Given the description of an element on the screen output the (x, y) to click on. 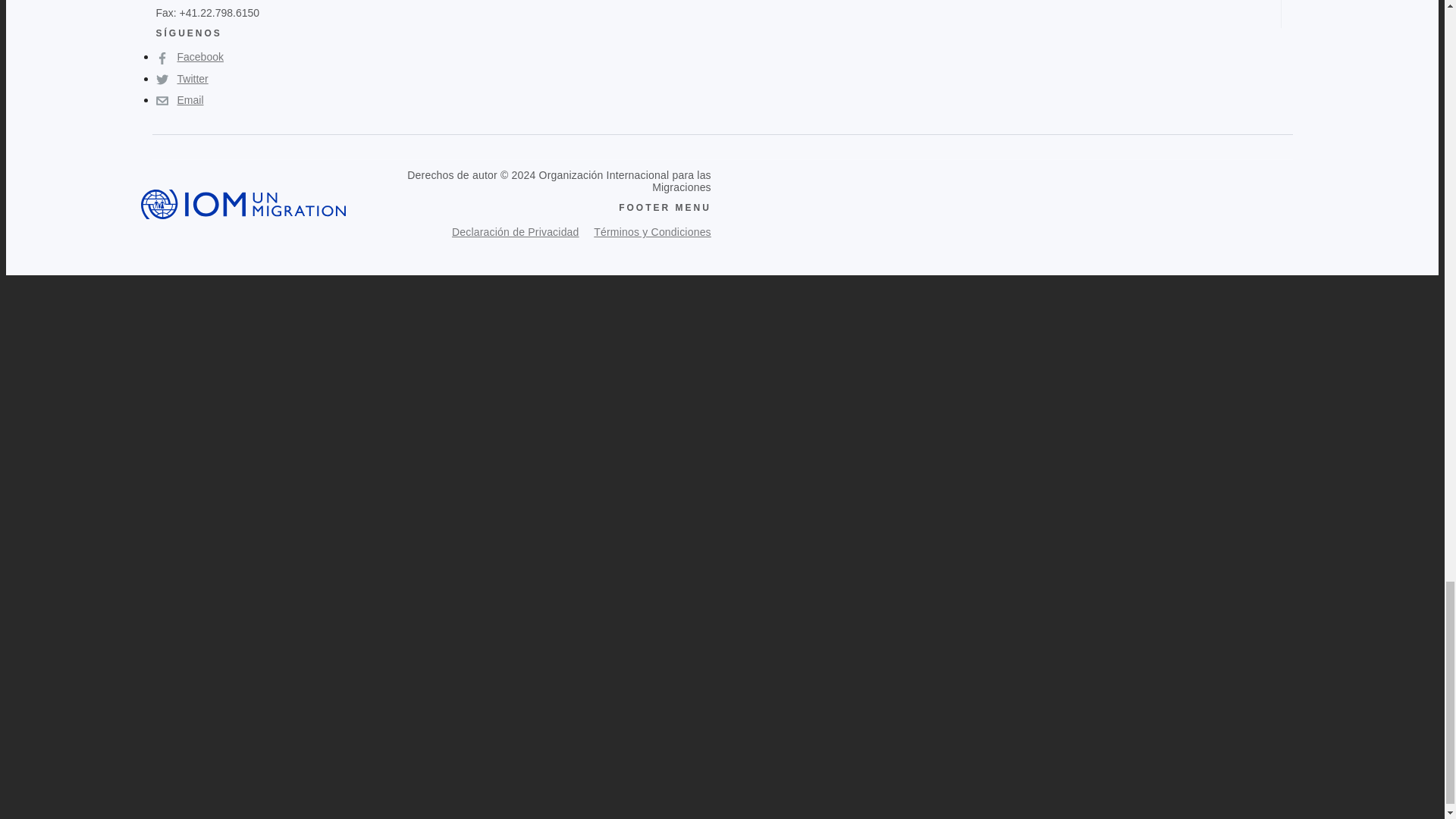
Email (179, 100)
Twitter (181, 78)
Facebook (189, 56)
